Given the description of an element on the screen output the (x, y) to click on. 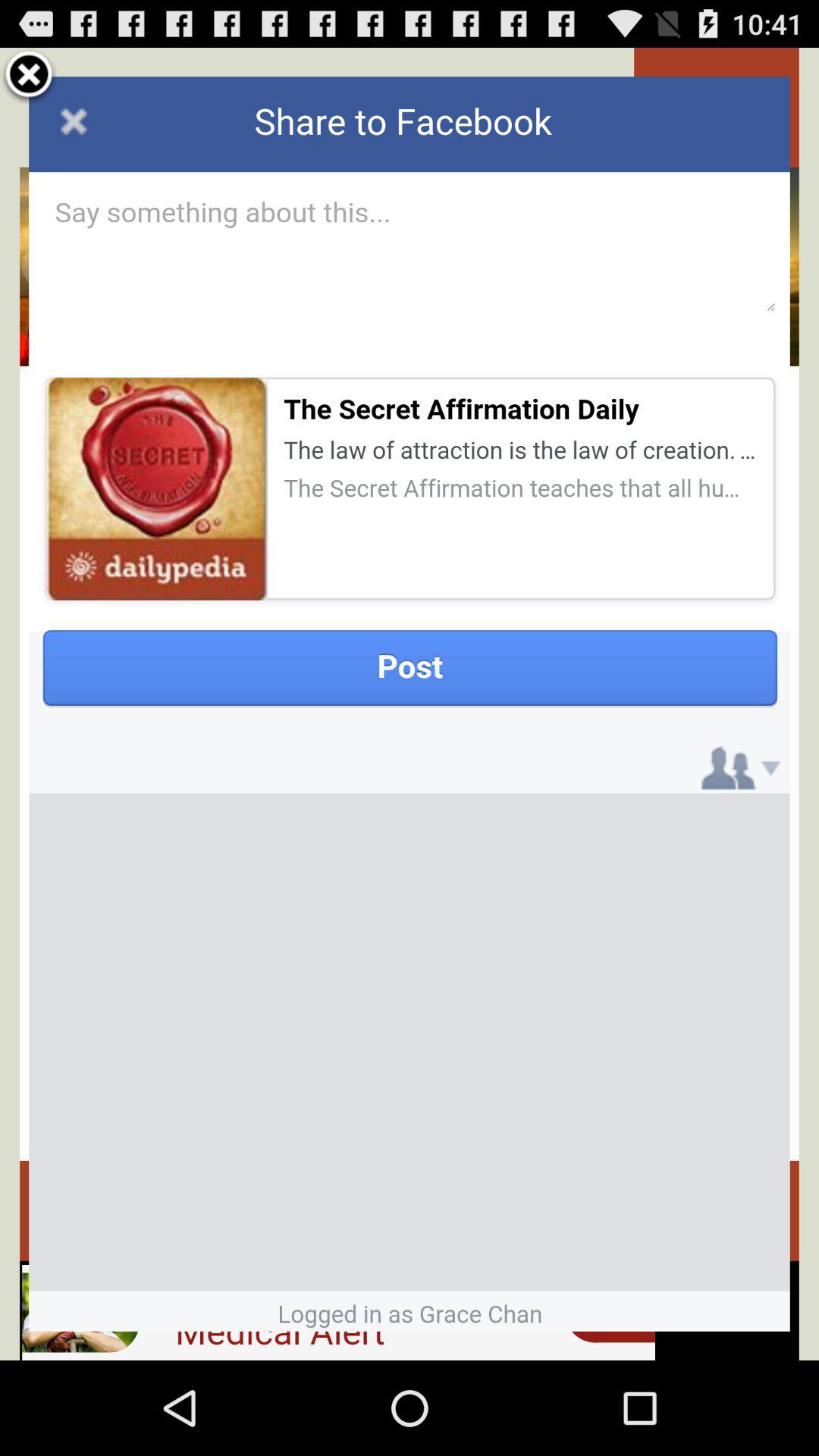
post to facebook (409, 703)
